Given the description of an element on the screen output the (x, y) to click on. 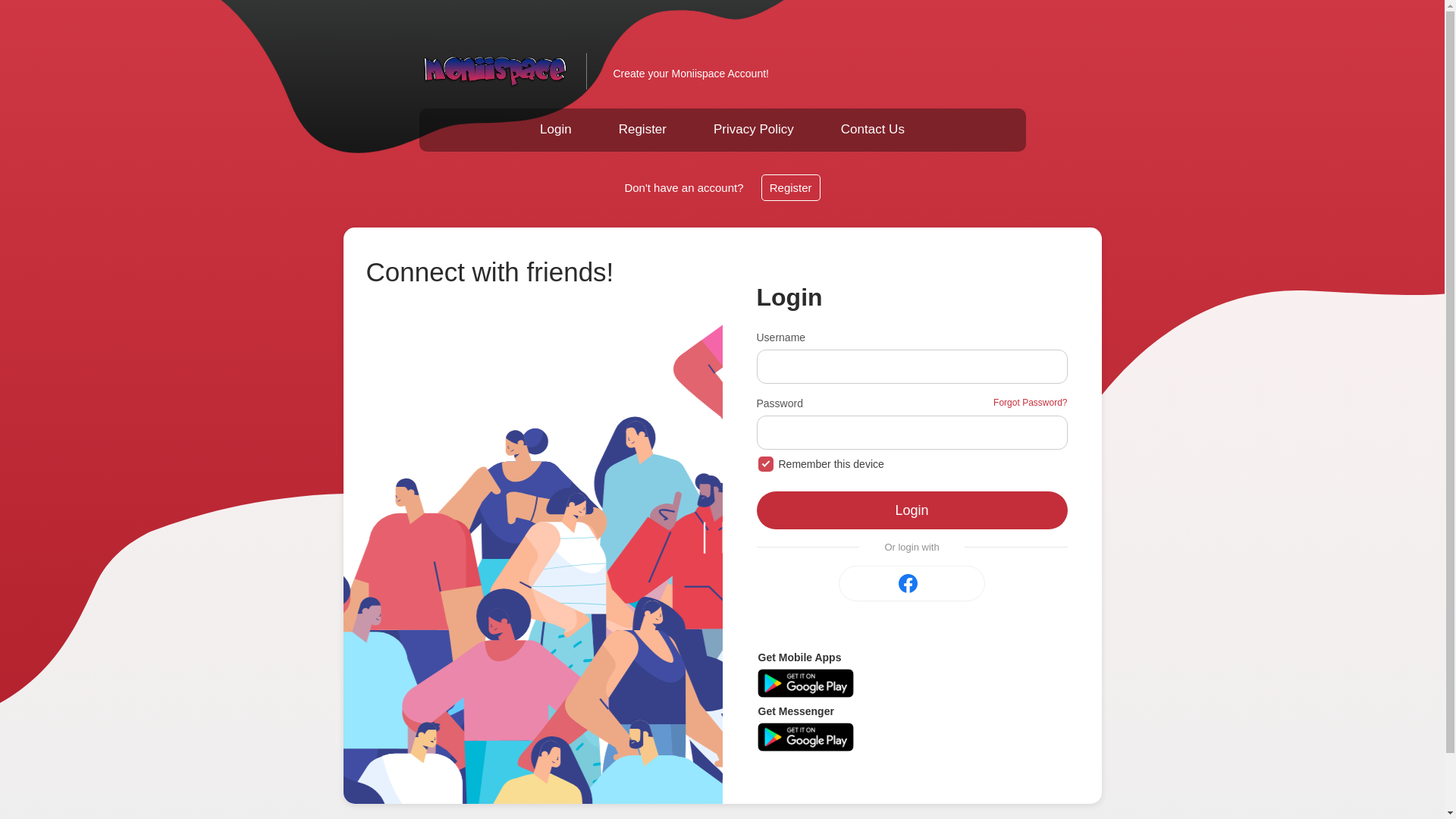
Register (642, 129)
Login (555, 129)
Contact Us (871, 129)
Privacy Policy (753, 129)
Login (912, 514)
Privacy Policy (753, 129)
Forgot Password? (1029, 407)
Register (791, 187)
Contact Us (872, 129)
